Given the description of an element on the screen output the (x, y) to click on. 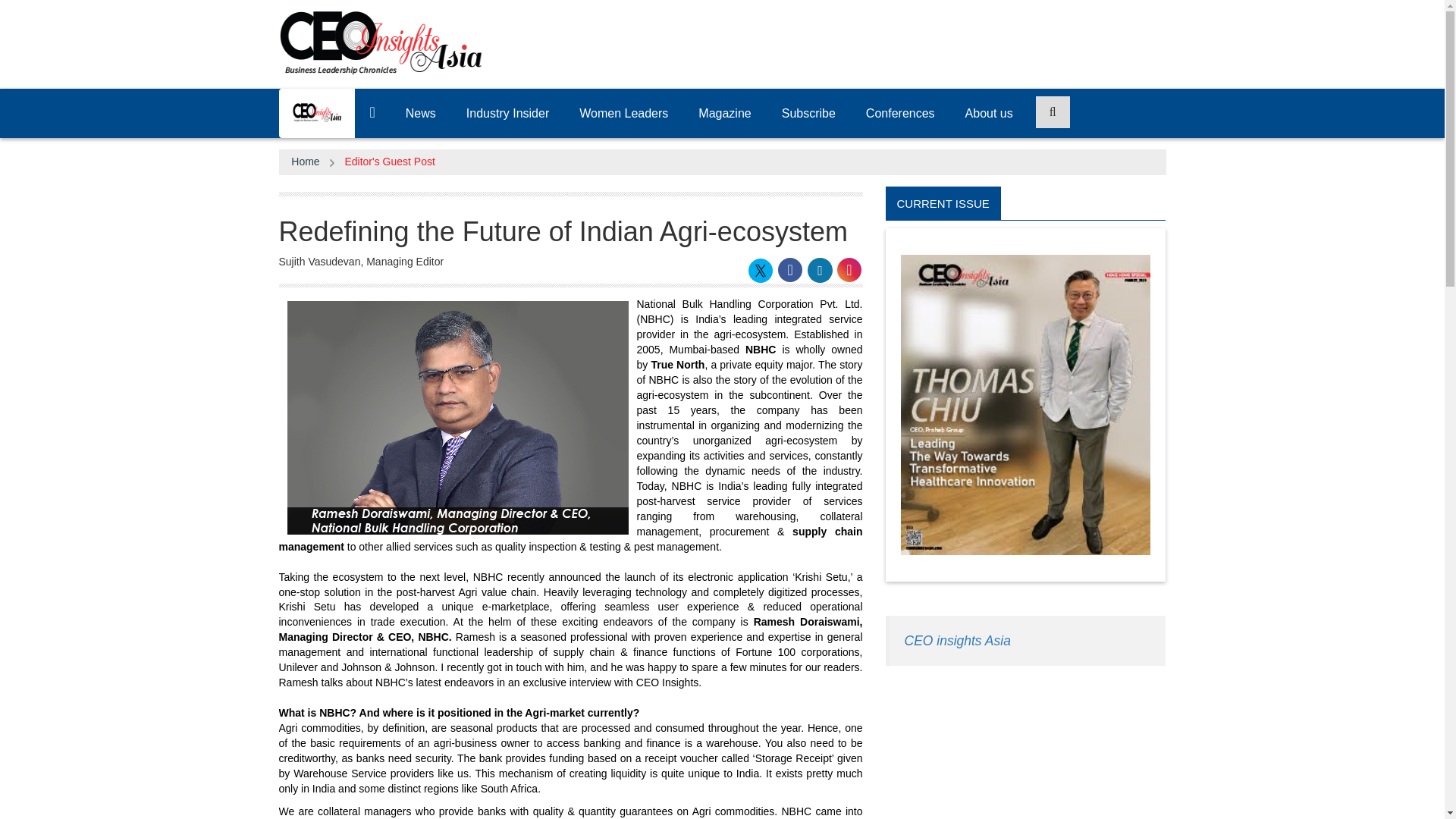
CEO insights Asia (957, 640)
Magazine (723, 113)
Women Leaders (623, 113)
Industry Insider (507, 113)
Editor's Guest Post (388, 161)
Home (304, 161)
Subscribe (808, 113)
CEOInsightsAsia (381, 42)
News (420, 113)
Conferences (900, 113)
About us (988, 113)
CEO (315, 112)
